Given the description of an element on the screen output the (x, y) to click on. 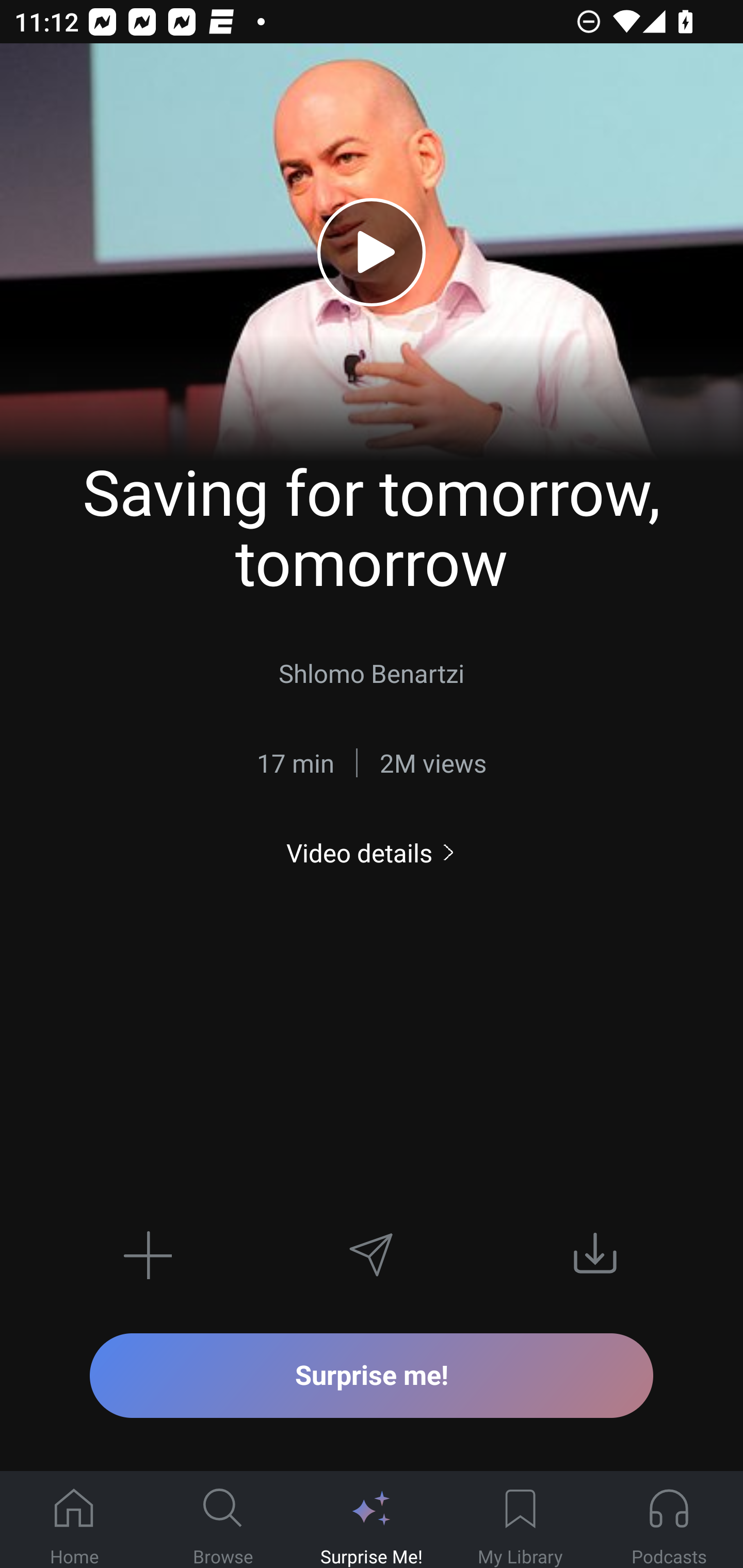
Video details (371, 852)
Surprise me! (371, 1374)
Home (74, 1520)
Browse (222, 1520)
Surprise Me! (371, 1520)
My Library (519, 1520)
Podcasts (668, 1520)
